Given the description of an element on the screen output the (x, y) to click on. 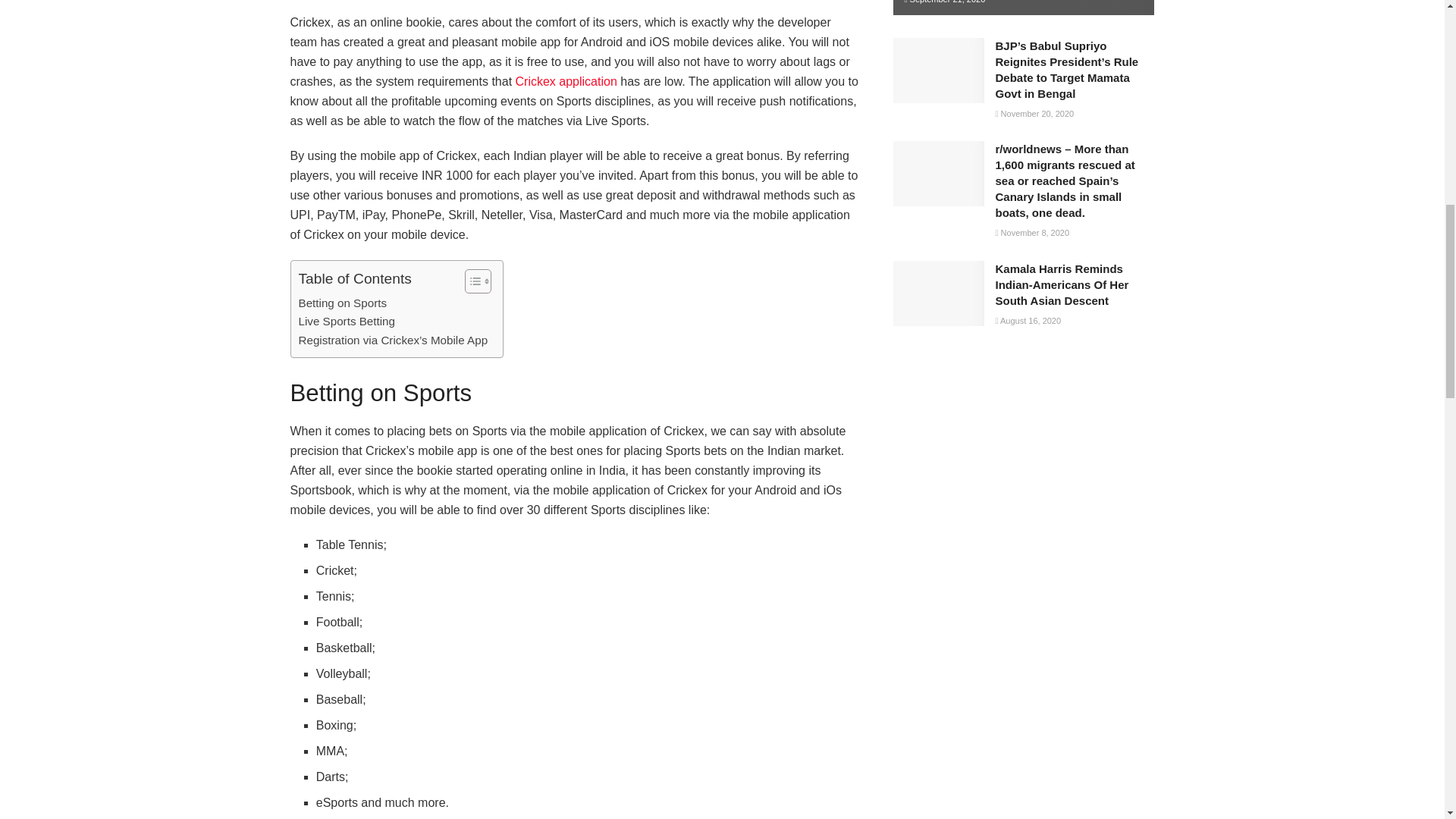
Betting on Sports (342, 303)
Live Sports Betting (346, 321)
